Given the description of an element on the screen output the (x, y) to click on. 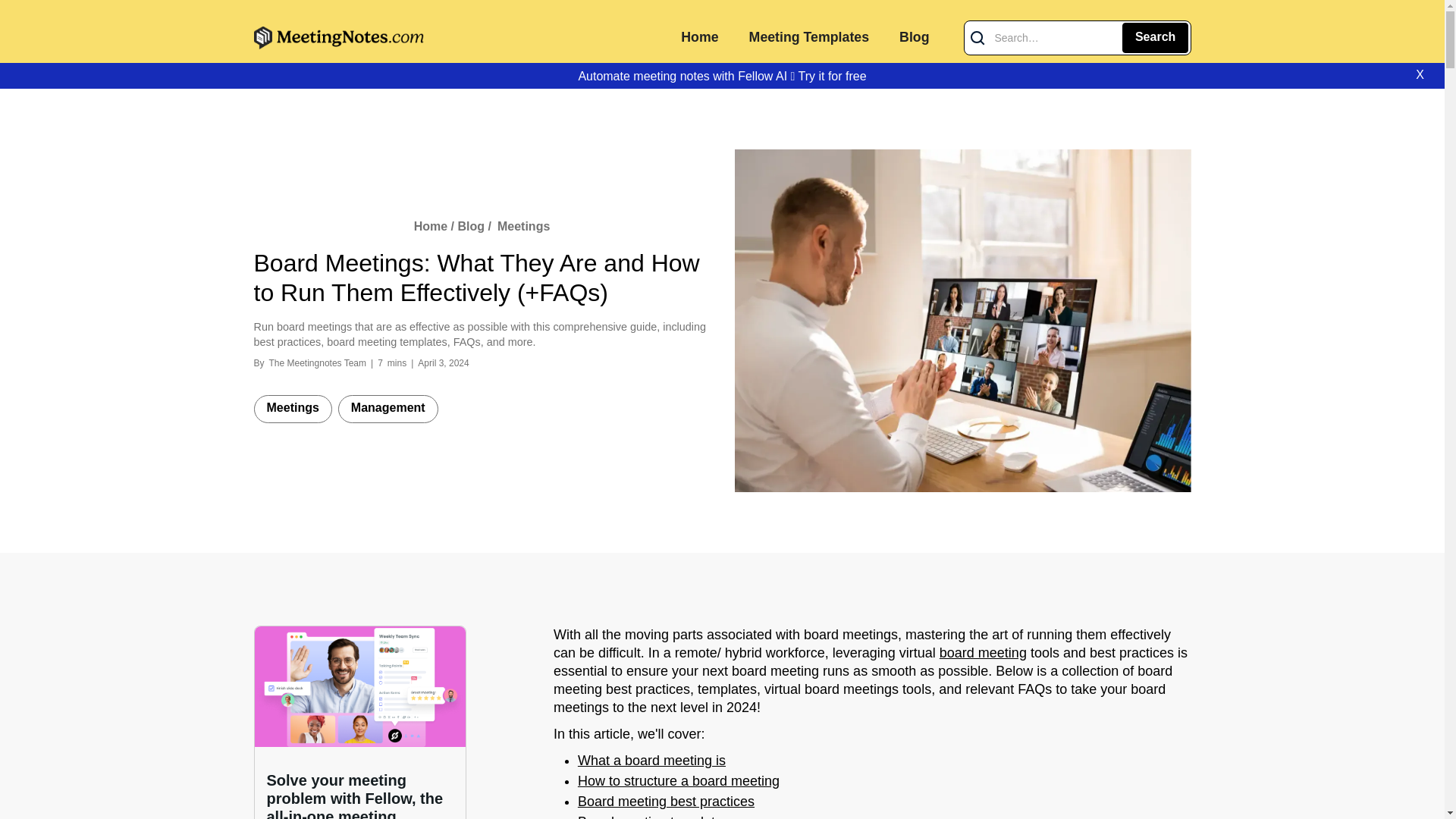
Search (1155, 37)
board meeting (982, 653)
Board meeting best practices (666, 801)
Home (699, 37)
What a board meeting is (651, 760)
Management (387, 408)
Board meeting templates (653, 816)
Home (432, 226)
Meetings (523, 226)
Search (1155, 37)
